Given the description of an element on the screen output the (x, y) to click on. 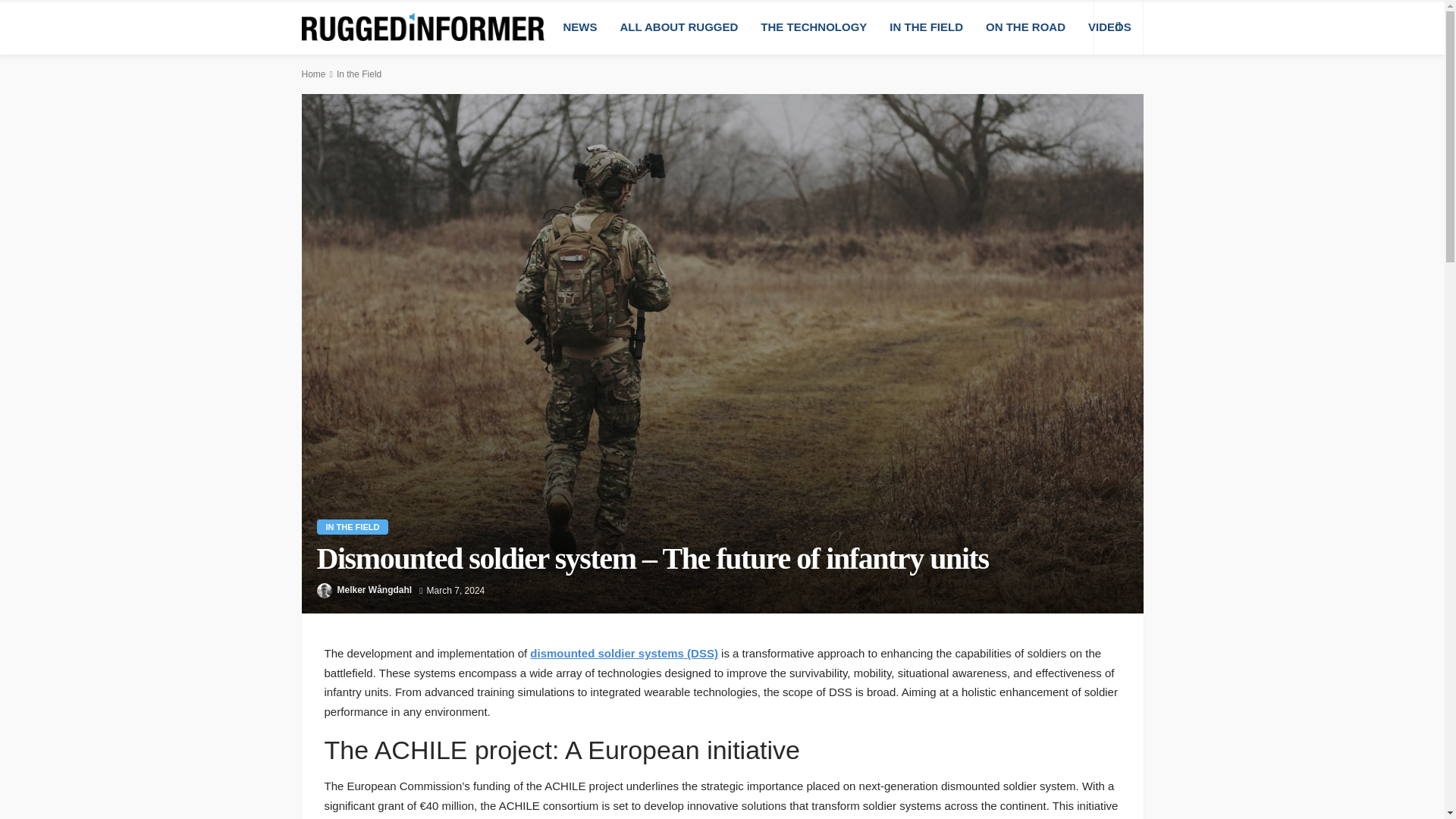
In the Field (358, 73)
VIDEOS (1109, 27)
In the Field (352, 526)
IN THE FIELD (925, 27)
NEWS (579, 27)
ON THE ROAD (1025, 27)
ALL ABOUT RUGGED (678, 27)
Ruggedinformer.com (422, 27)
IN THE FIELD (352, 526)
THE TECHNOLOGY (813, 27)
